Given the description of an element on the screen output the (x, y) to click on. 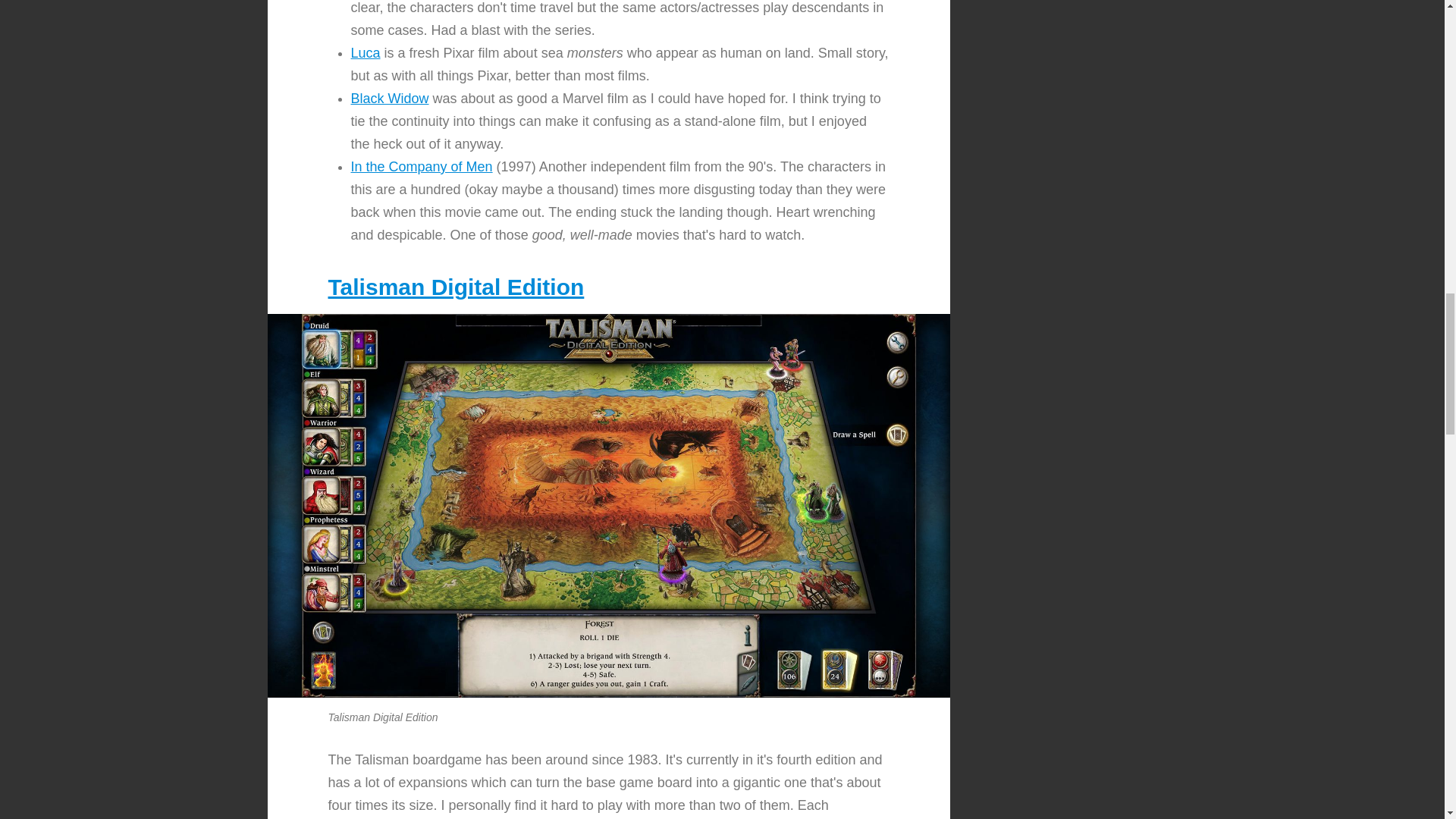
Talisman Digital Edition (455, 277)
In the Company of Men (421, 155)
Luca (365, 39)
Black Widow (389, 86)
